Given the description of an element on the screen output the (x, y) to click on. 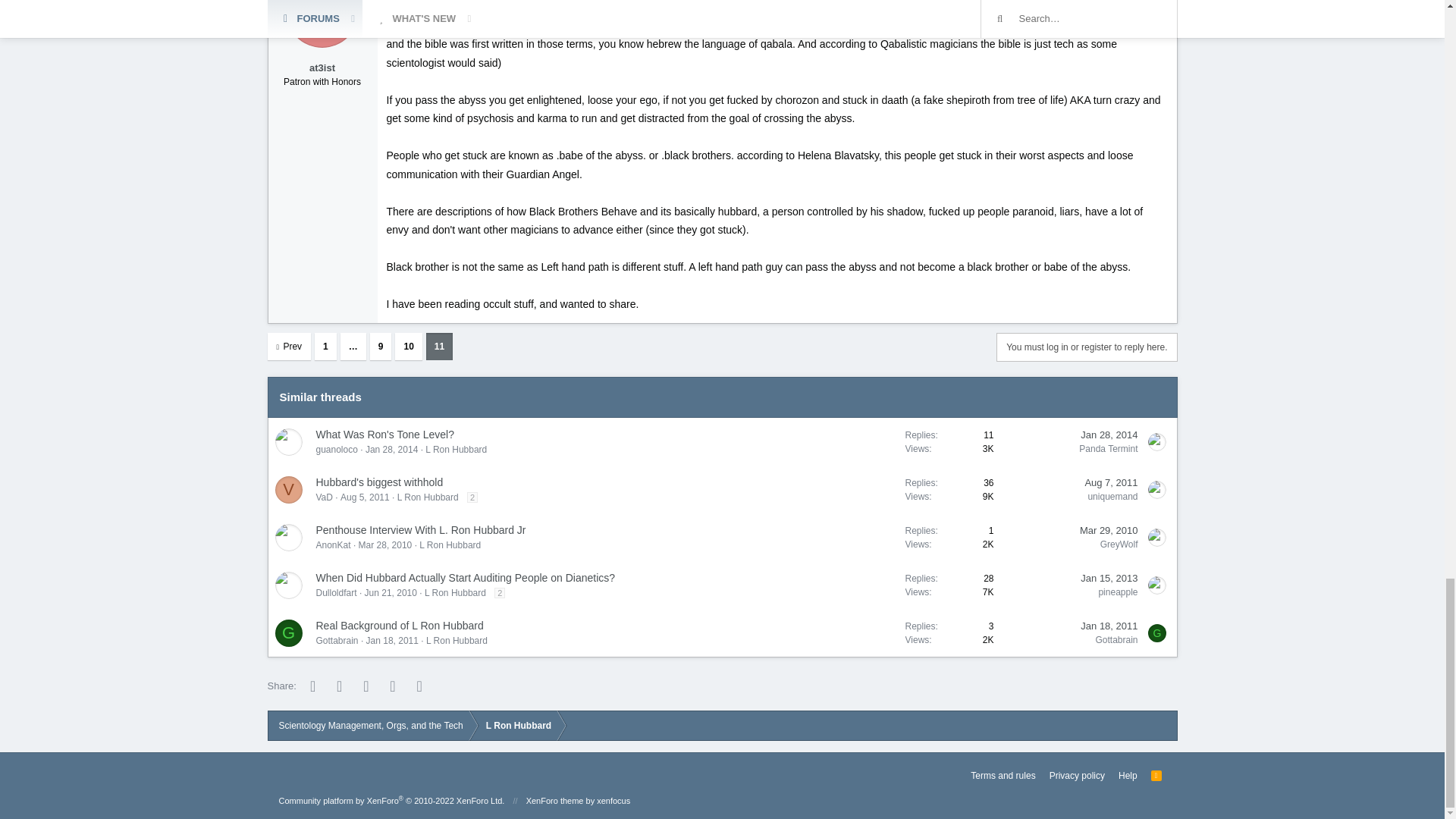
Go to page (353, 346)
